Given the description of an element on the screen output the (x, y) to click on. 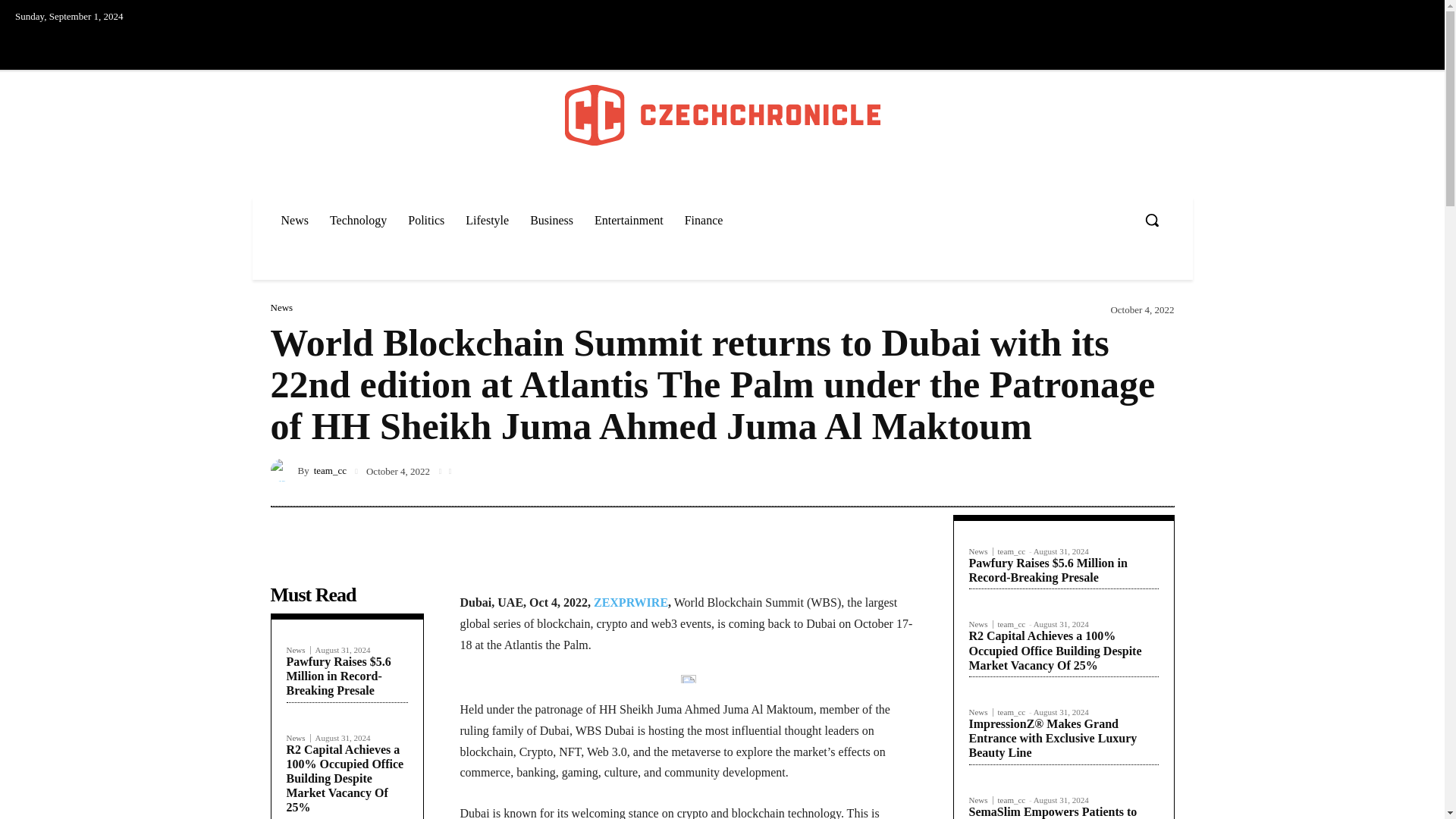
Politics (425, 220)
News (293, 220)
Lifestyle (486, 220)
News (280, 307)
Finance (703, 220)
News (298, 737)
Entertainment (628, 220)
Business (551, 220)
Technology (357, 220)
News (298, 650)
